Given the description of an element on the screen output the (x, y) to click on. 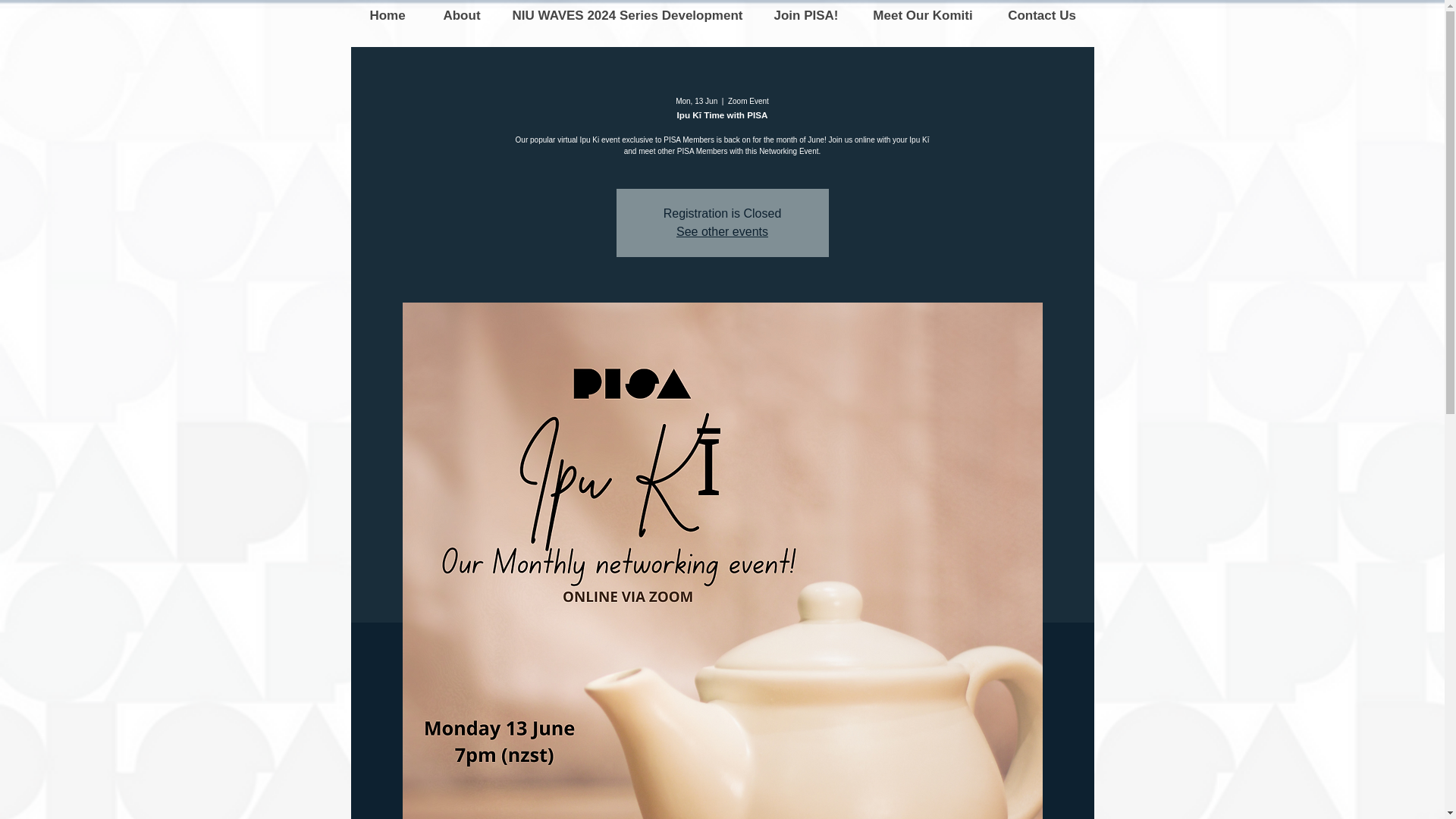
Meet Our Komiti (922, 15)
Contact Us (1040, 15)
Join PISA! (805, 15)
See other events (722, 231)
Home (386, 15)
About (462, 15)
NIU WAVES 2024 Series Development (627, 15)
